Given the description of an element on the screen output the (x, y) to click on. 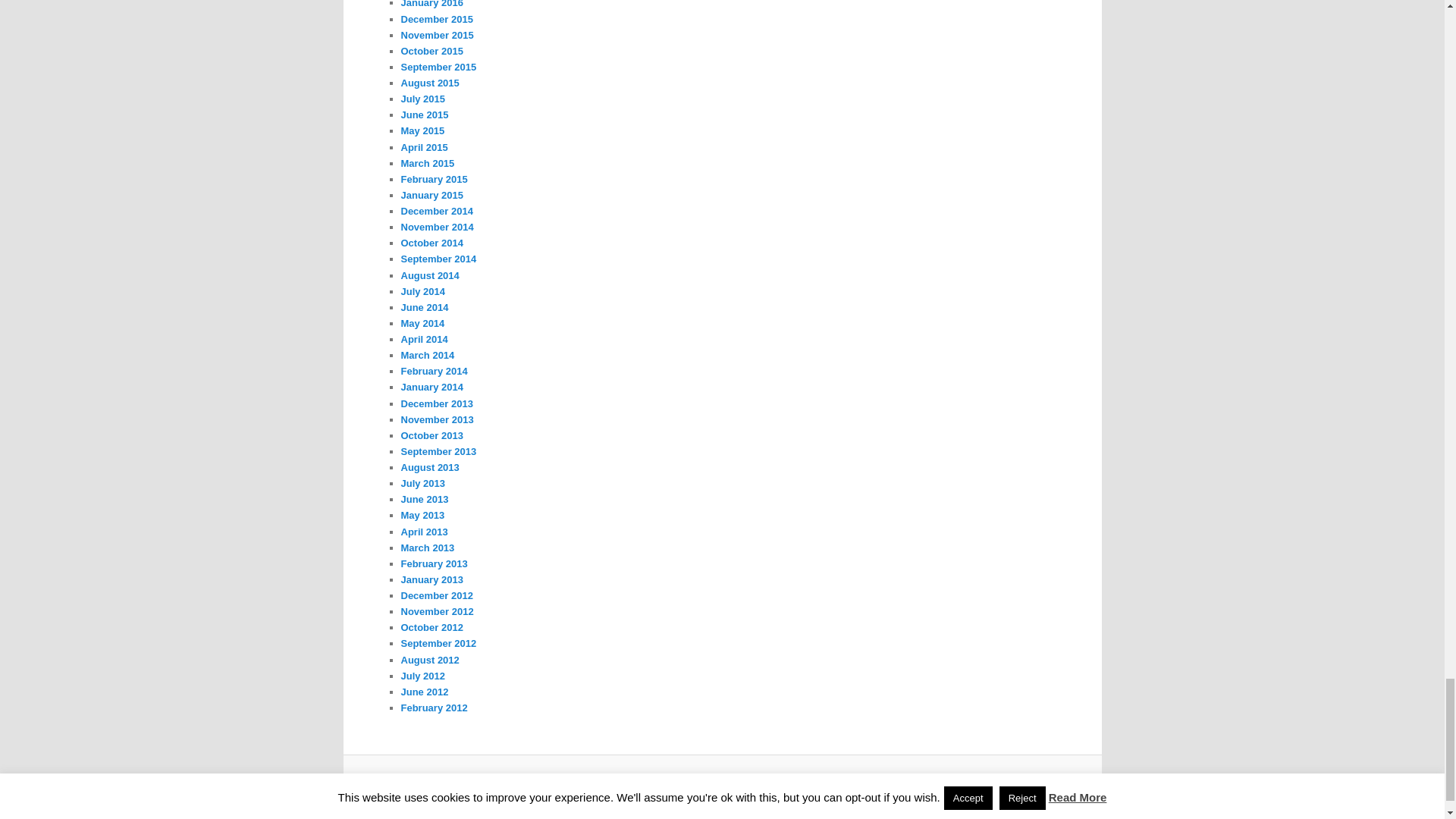
Semantic Personal Publishing Platform (749, 784)
